Given the description of an element on the screen output the (x, y) to click on. 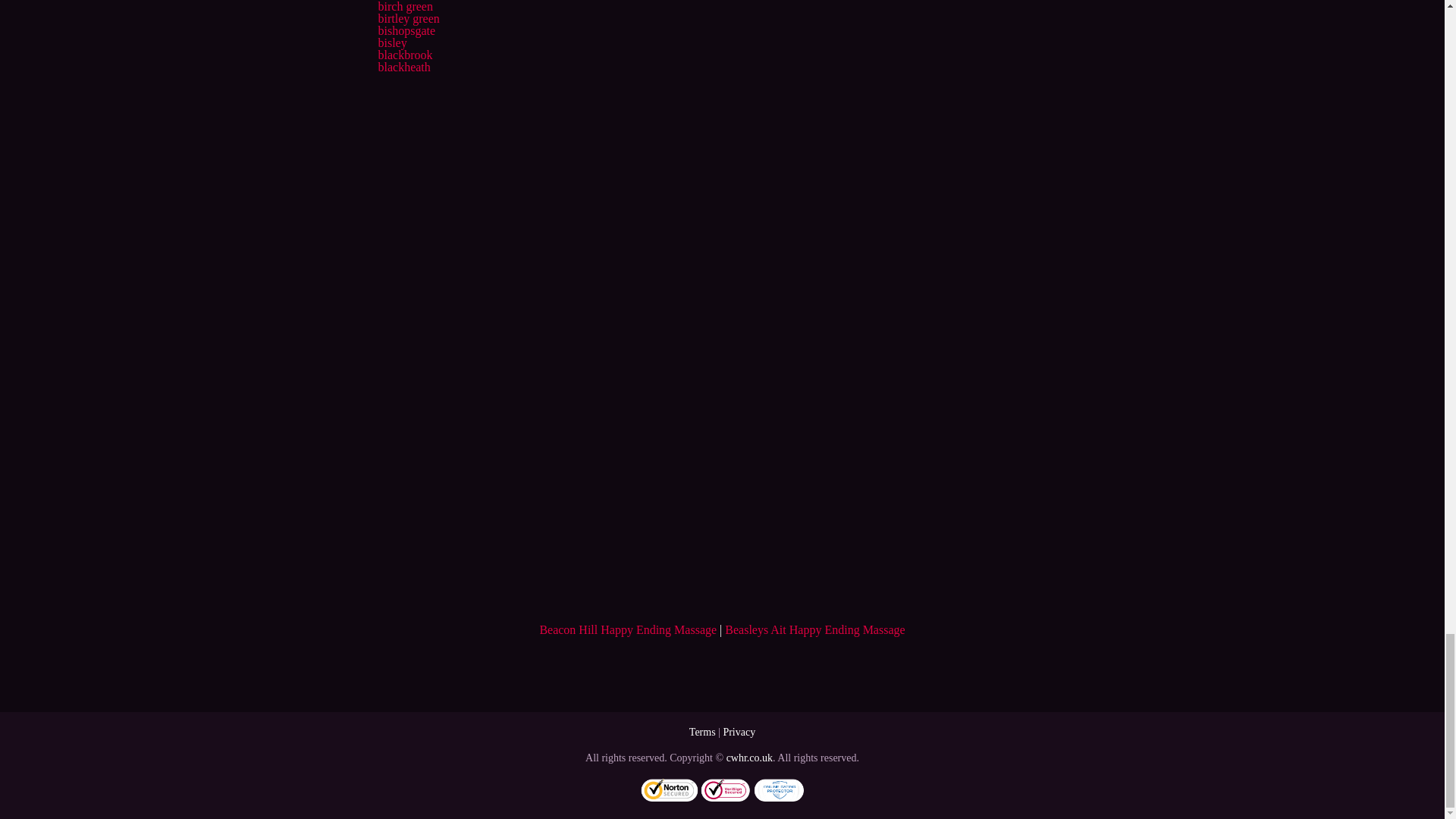
Beacon Hill Happy Ending Massage (627, 629)
birtley green (408, 18)
birch green (404, 6)
Terms (702, 731)
Terms (702, 731)
bisley (391, 42)
blackbrook (404, 54)
Privacy (738, 731)
Beasleys Ait Happy Ending Massage (814, 629)
binscombe (403, 0)
